Given the description of an element on the screen output the (x, y) to click on. 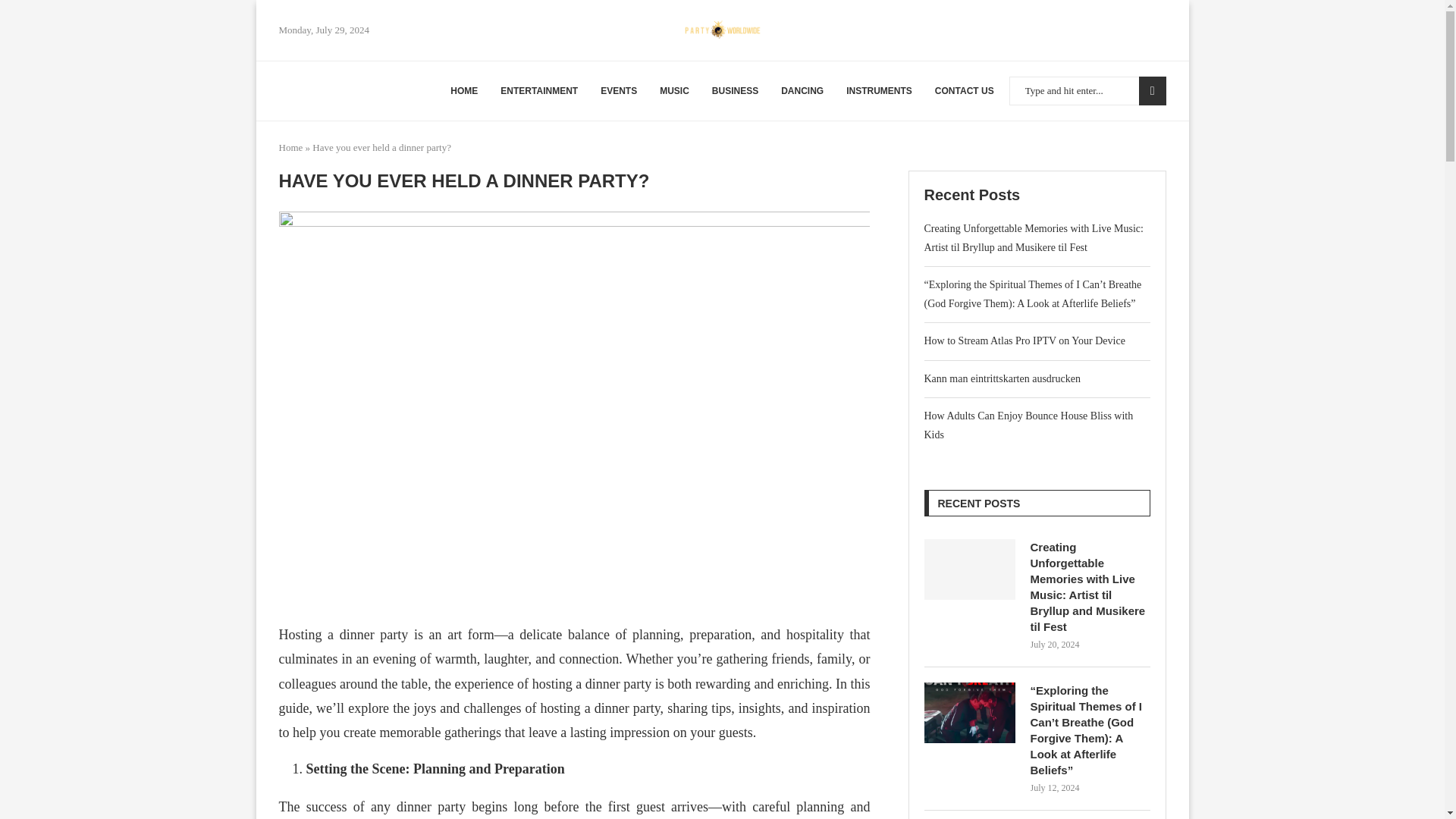
ENTERTAINMENT (539, 90)
DANCING (802, 90)
INSTRUMENTS (878, 90)
Search (1152, 90)
BUSINESS (734, 90)
CONTACT US (964, 90)
